Given the description of an element on the screen output the (x, y) to click on. 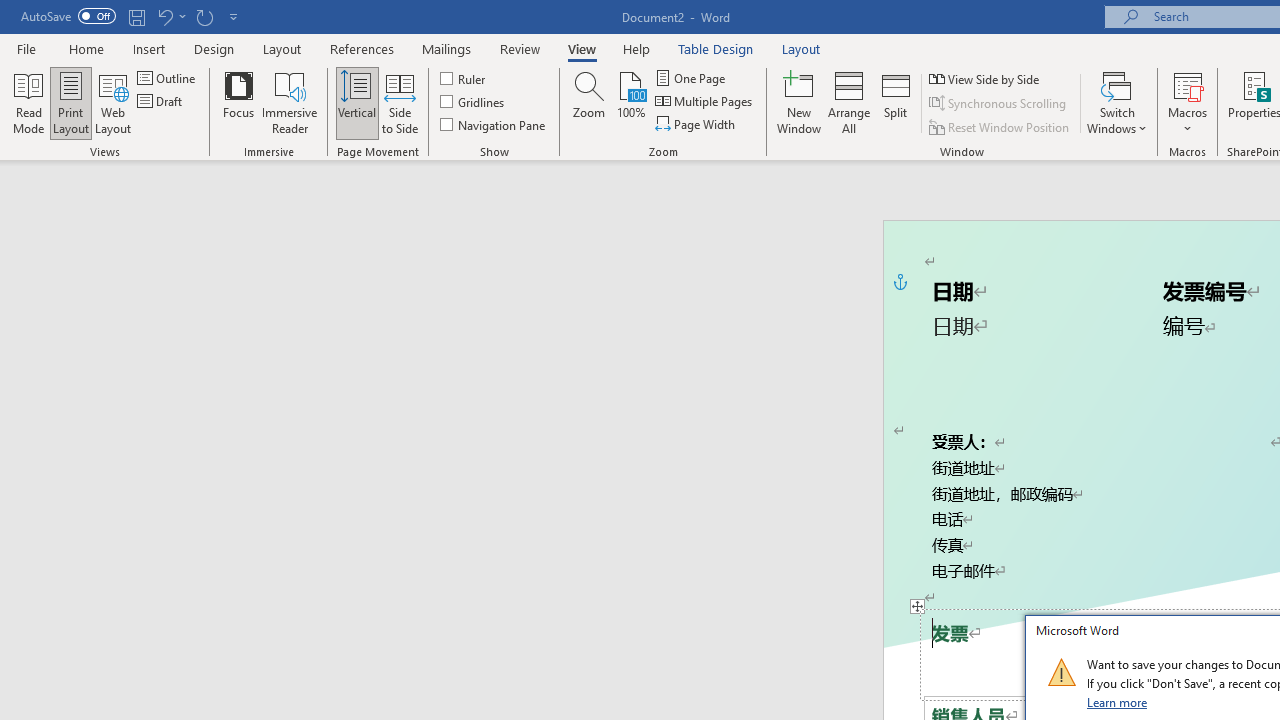
Repeat Style (204, 15)
Immersive Reader (289, 102)
Vertical (356, 102)
Side to Side (399, 102)
